Given the description of an element on the screen output the (x, y) to click on. 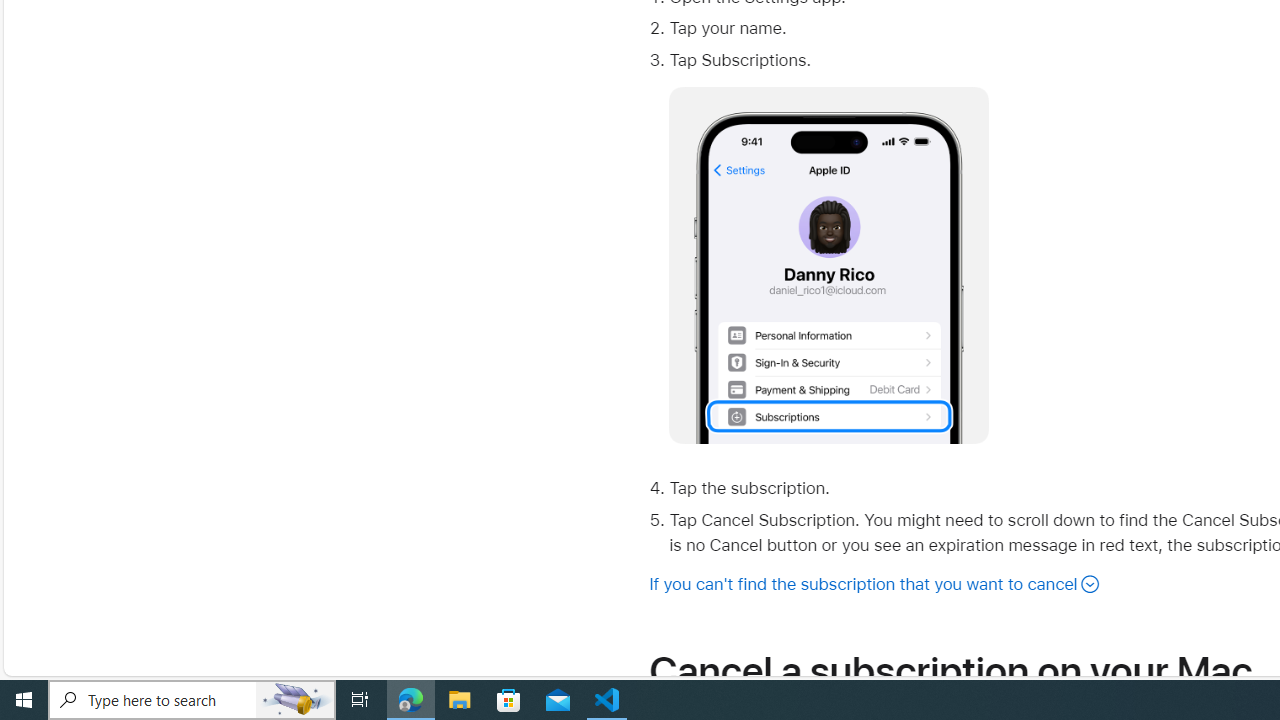
No alt supplied for Image (829, 265)
